Given the description of an element on the screen output the (x, y) to click on. 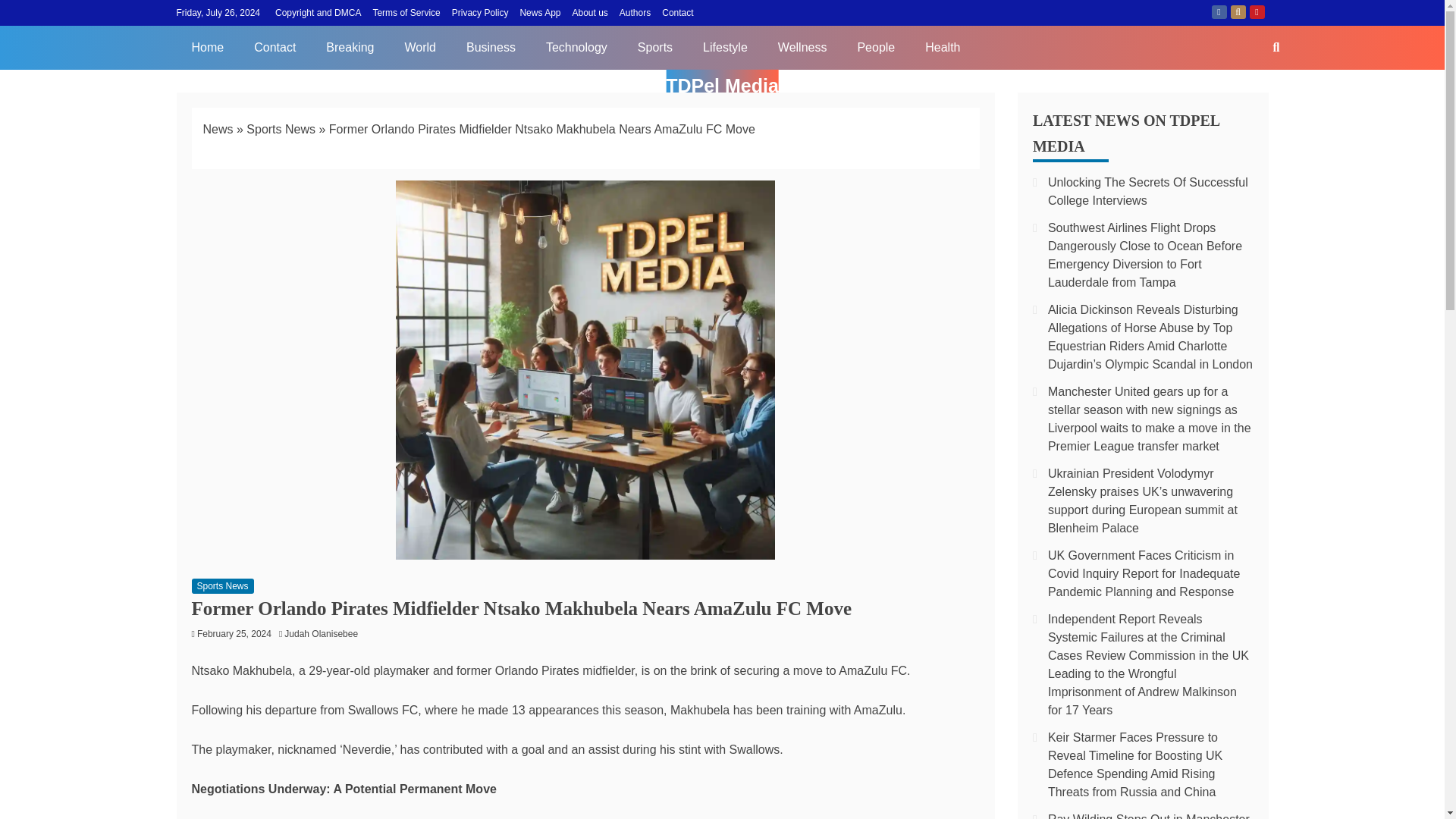
Sports (655, 46)
World (419, 46)
February 25, 2024 (233, 633)
People (875, 46)
Contact (274, 46)
Pinterest (1257, 11)
News (217, 128)
Health (942, 46)
Privacy Policy (479, 12)
About us (589, 12)
Technology (577, 46)
Facebook (1219, 11)
Contact (677, 12)
Judah Olanisebee (324, 633)
News App (539, 12)
